Given the description of an element on the screen output the (x, y) to click on. 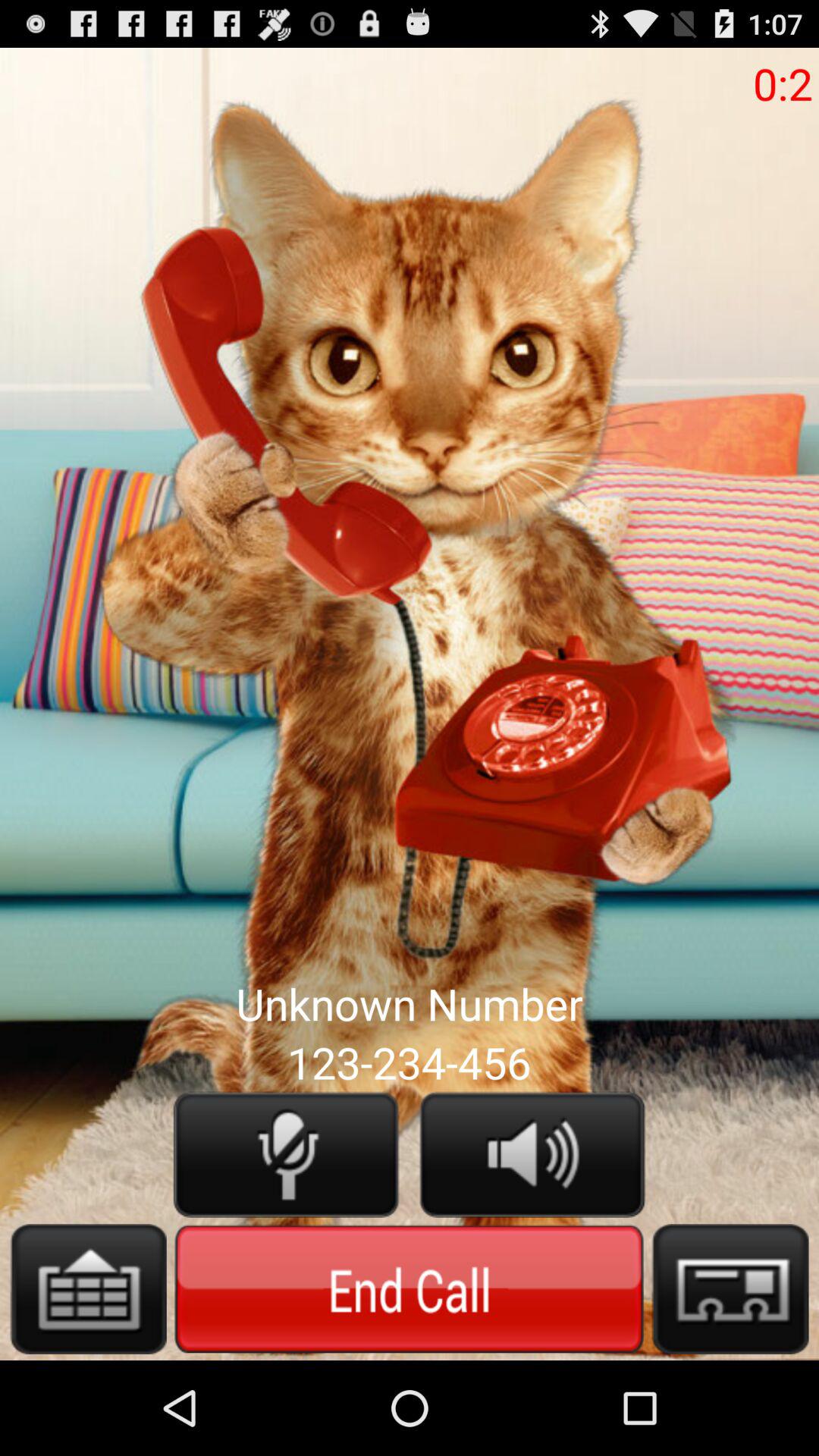
volume button (532, 1154)
